Given the description of an element on the screen output the (x, y) to click on. 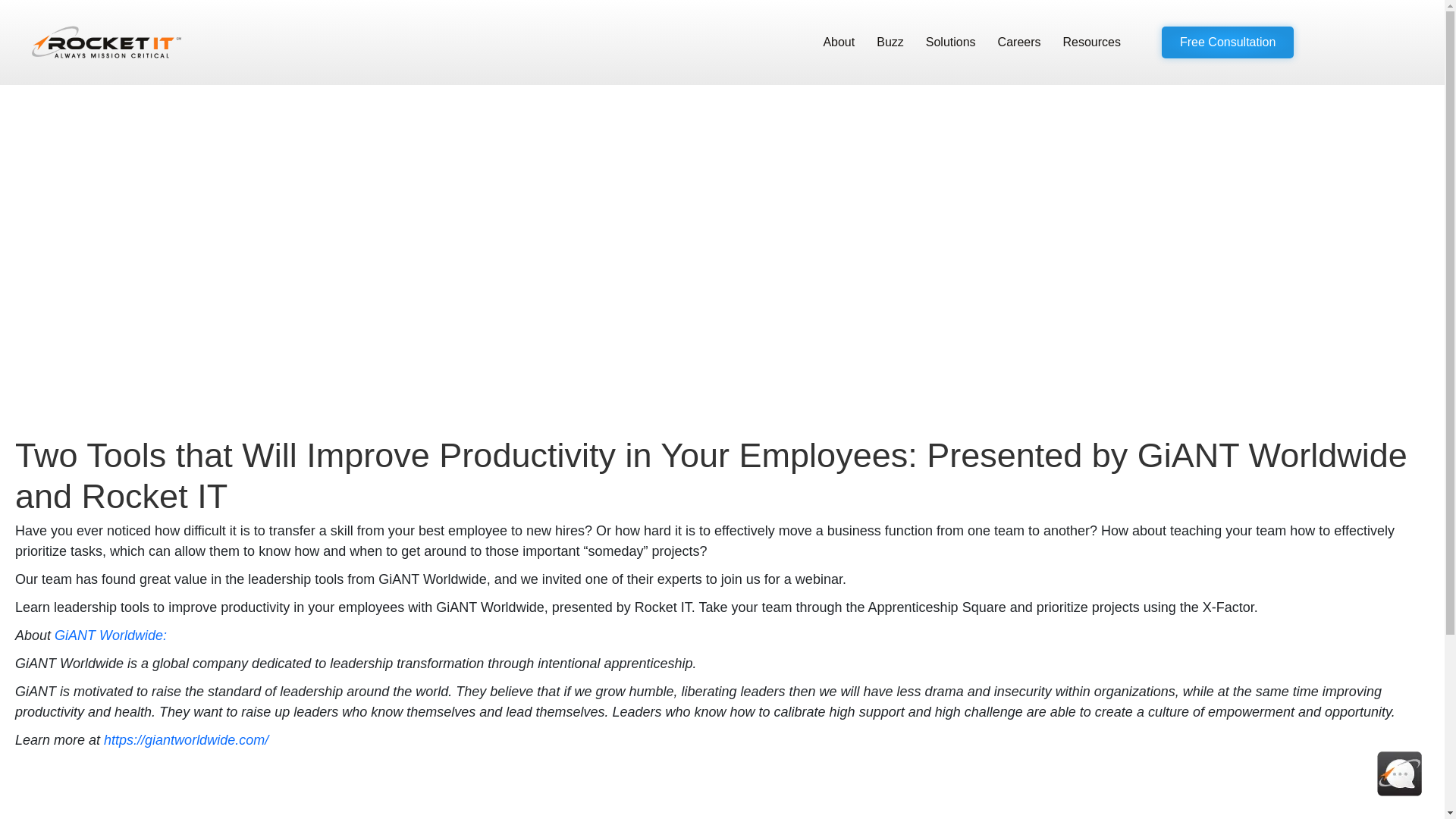
Solutions (951, 42)
logo (106, 41)
About (838, 42)
Free Consultation (1227, 42)
GiANT Worldwide: (111, 635)
Careers (1019, 42)
Buzz (890, 42)
Resources (1091, 42)
